Given the description of an element on the screen output the (x, y) to click on. 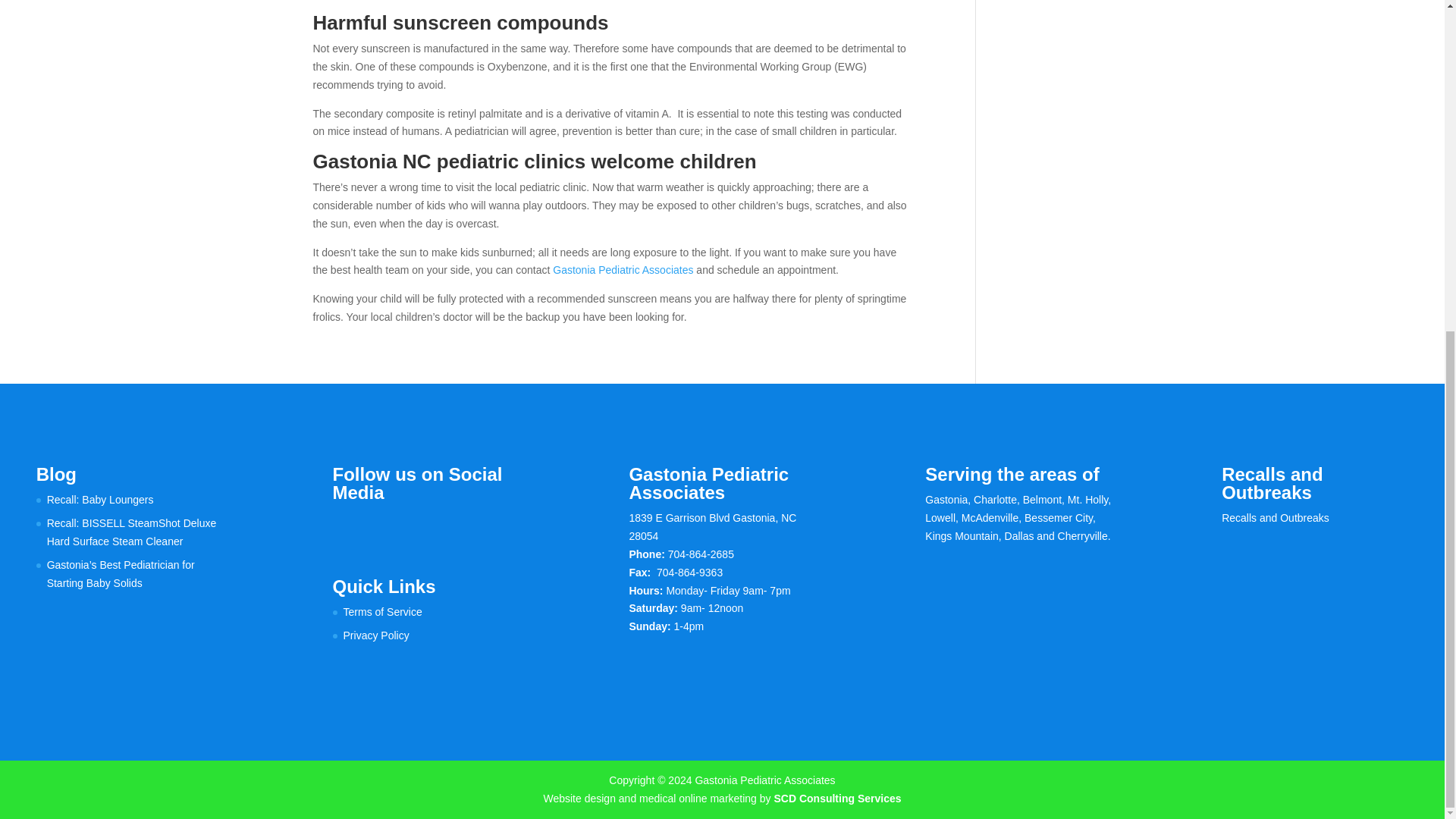
Recall: Baby Loungers (100, 499)
Terms of Service (382, 612)
Follow Us on Twitter (376, 525)
Privacy Policy (376, 635)
Recalls and Outbreaks (1275, 517)
Follow Us on Facebook (344, 525)
Recall: BISSELL SteamShot Deluxe Hard Surface Steam Cleaner (131, 531)
SCD Consulting Services (837, 798)
Gastonia Pediatric Associates (623, 269)
Follow Us on Instagram (408, 525)
